Given the description of an element on the screen output the (x, y) to click on. 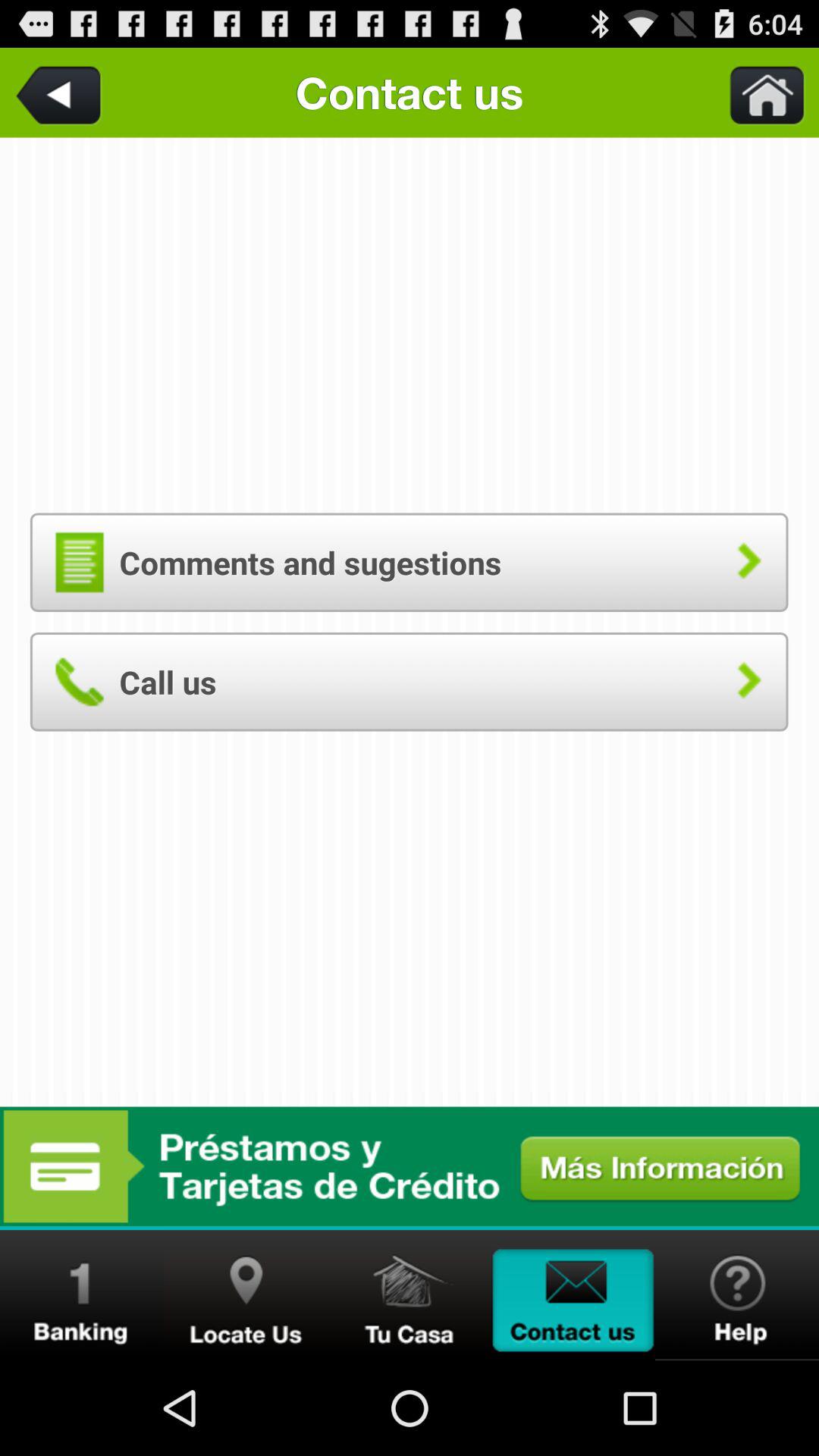
open button above call us icon (409, 562)
